Given the description of an element on the screen output the (x, y) to click on. 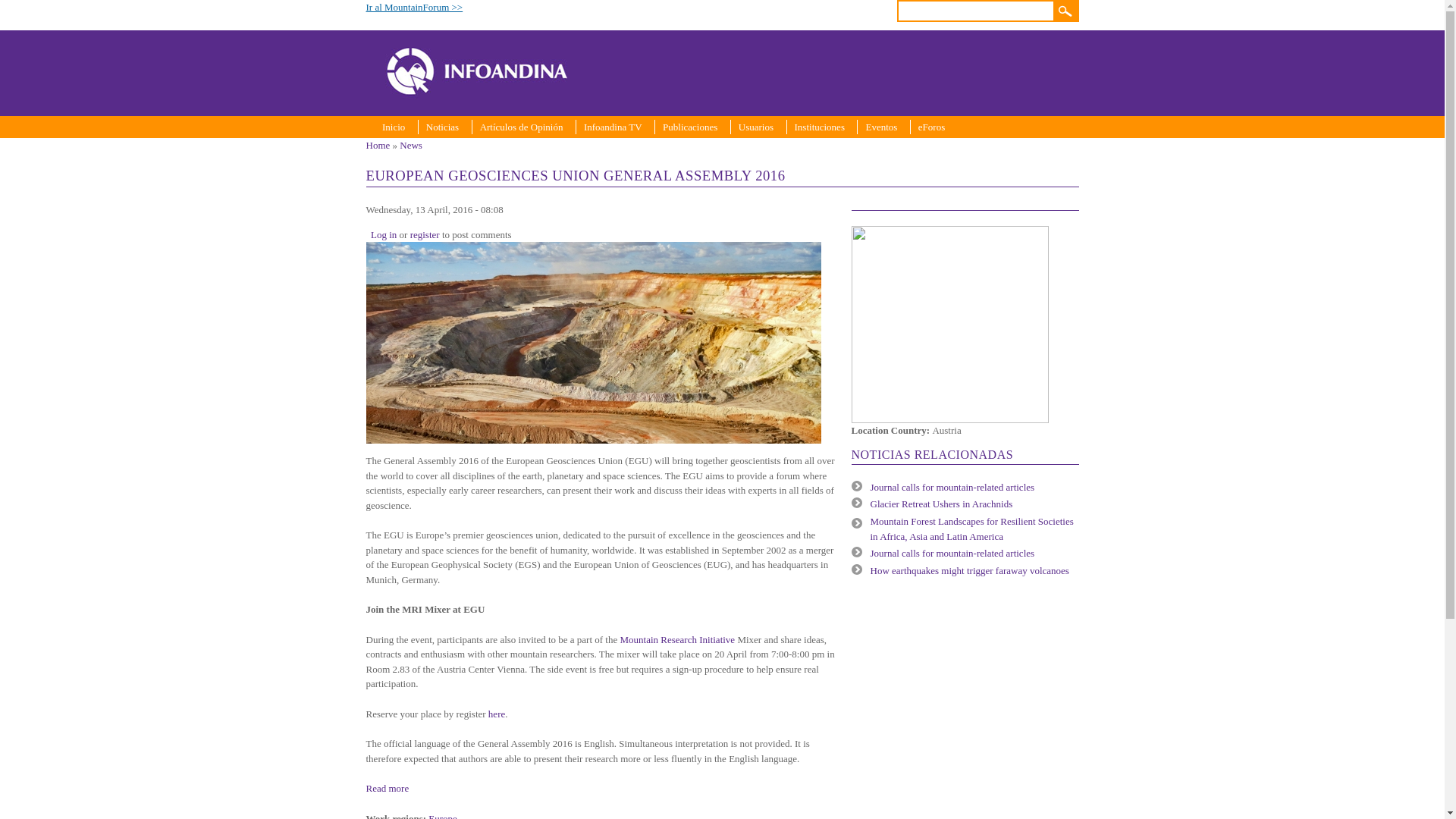
Mountain Research Initiative (677, 639)
Skip to main content (691, 1)
Glacier Retreat Ushers in Arachnids (941, 503)
Infoandina TV (608, 127)
Journal calls for mountain-related articles (952, 552)
Usuarios (751, 127)
Eventos (876, 127)
Read more (387, 787)
Europe (442, 816)
here (496, 713)
How earthquakes might trigger faraway volcanoes (969, 570)
Inicio (389, 127)
Journal calls for mountain-related articles (952, 486)
Publicaciones (685, 127)
